Given the description of an element on the screen output the (x, y) to click on. 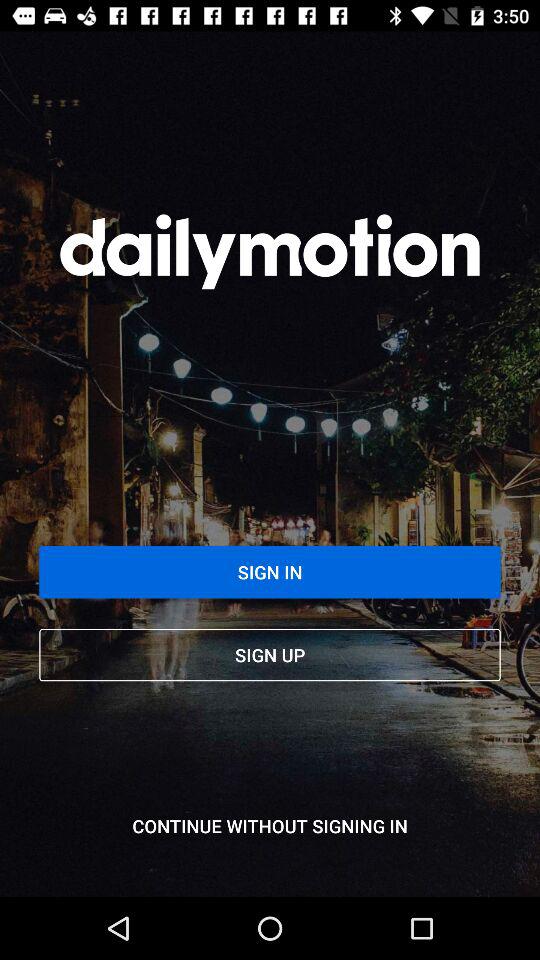
tap sign up (269, 654)
